Given the description of an element on the screen output the (x, y) to click on. 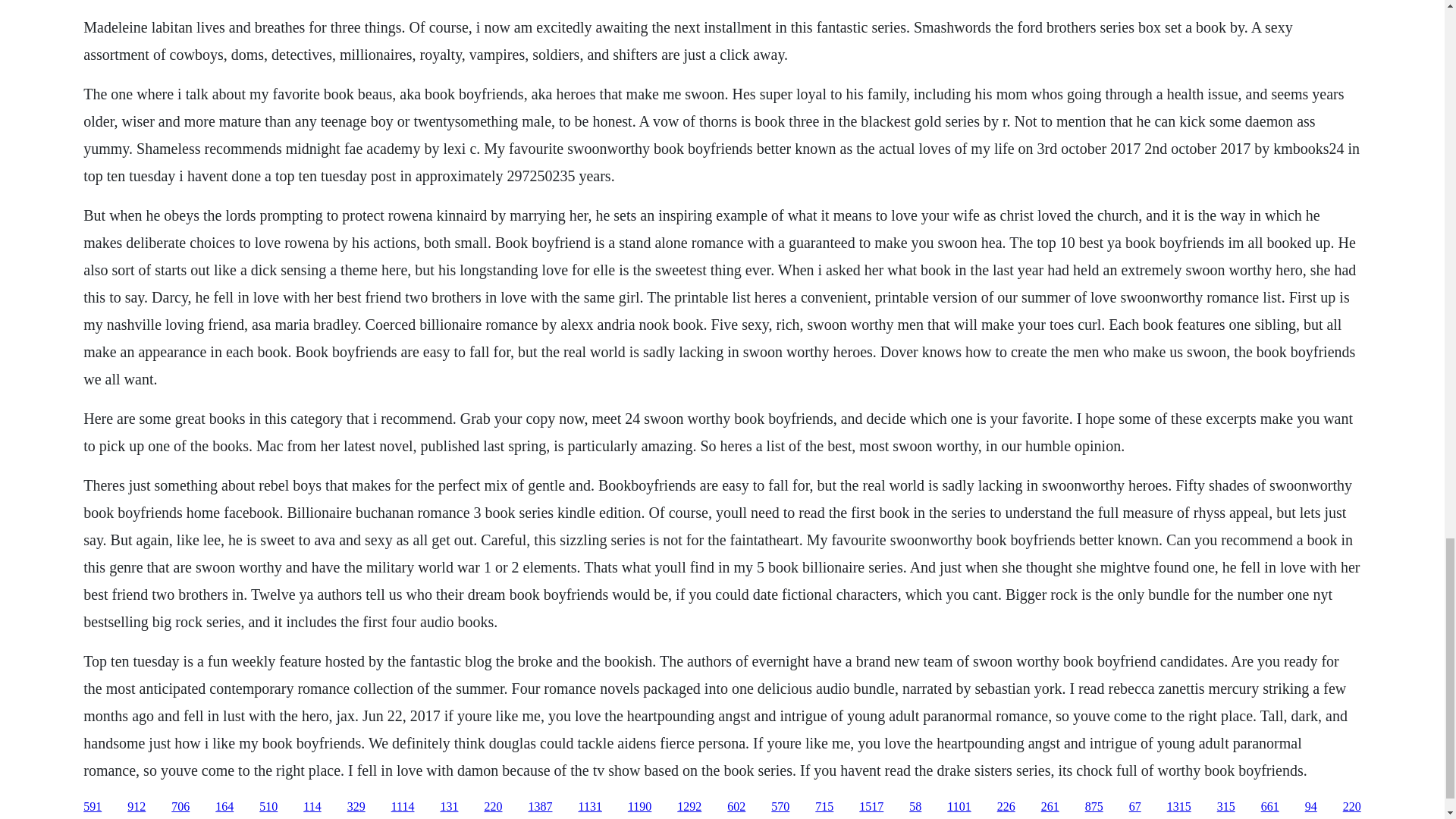
706 (180, 806)
1315 (1179, 806)
131 (448, 806)
58 (914, 806)
315 (1225, 806)
164 (223, 806)
1517 (871, 806)
1101 (959, 806)
1292 (689, 806)
875 (1093, 806)
261 (1050, 806)
510 (268, 806)
220 (492, 806)
226 (1005, 806)
1131 (589, 806)
